Given the description of an element on the screen output the (x, y) to click on. 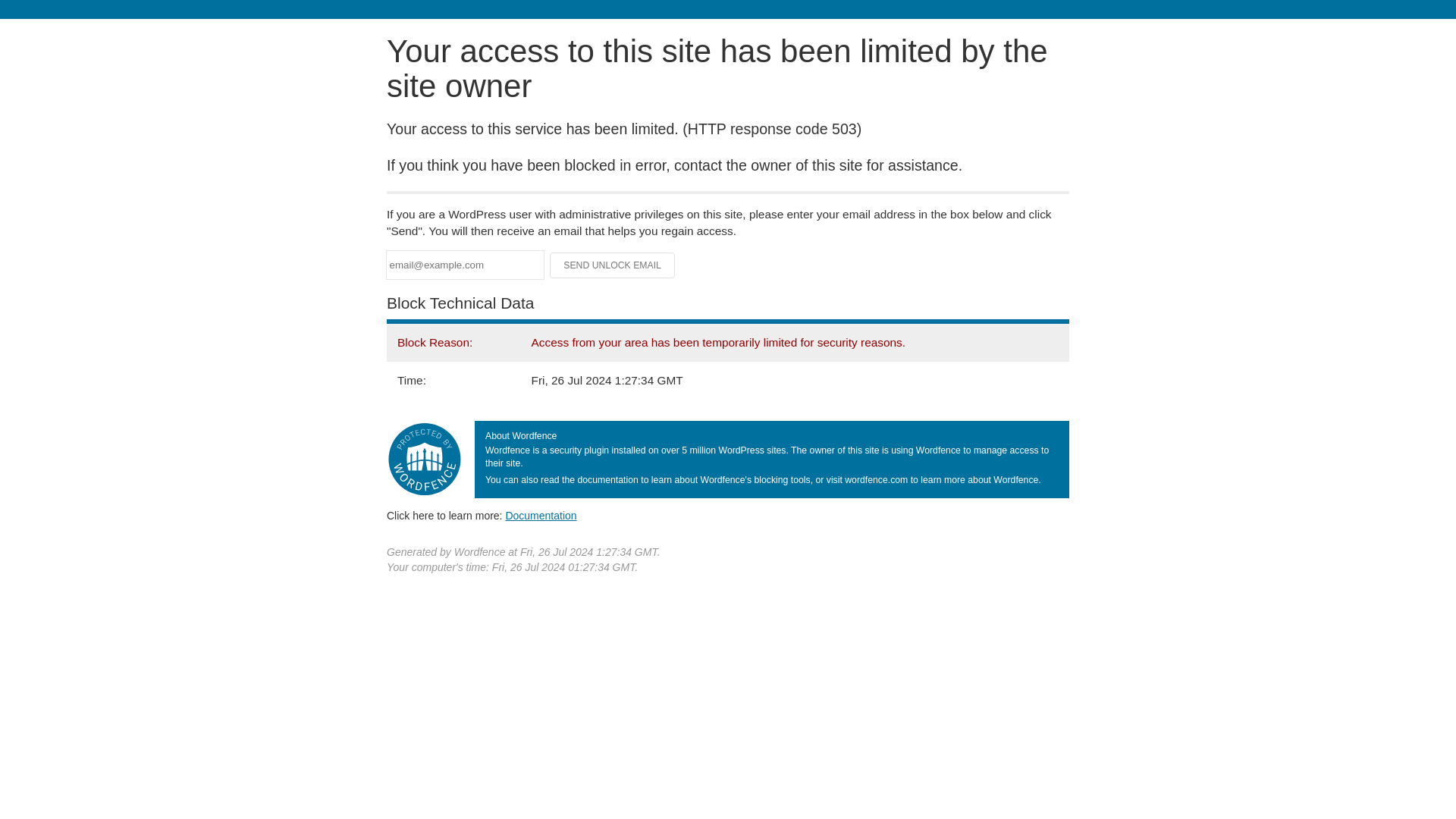
Send Unlock Email (612, 265)
Documentation (540, 515)
Send Unlock Email (612, 265)
